Given the description of an element on the screen output the (x, y) to click on. 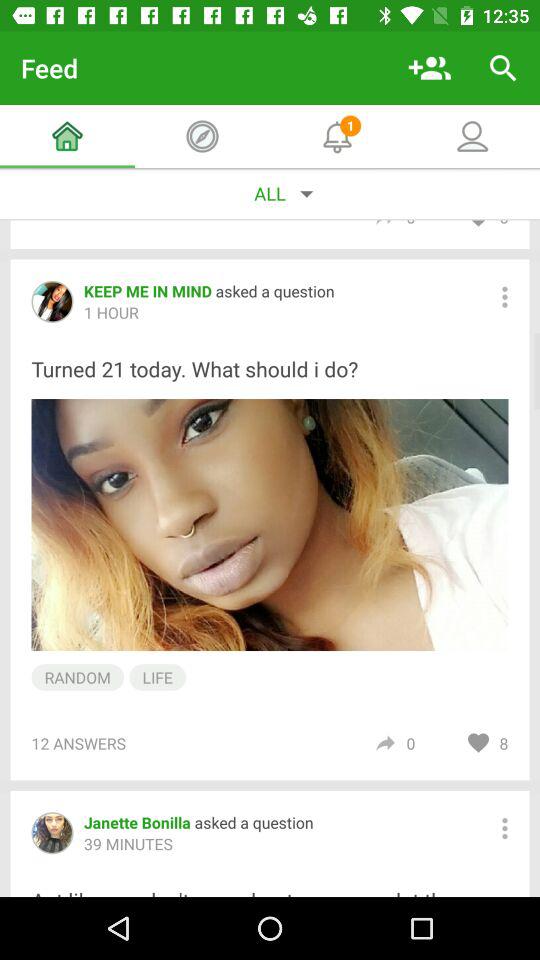
swicth option bar (504, 296)
